Given the description of an element on the screen output the (x, y) to click on. 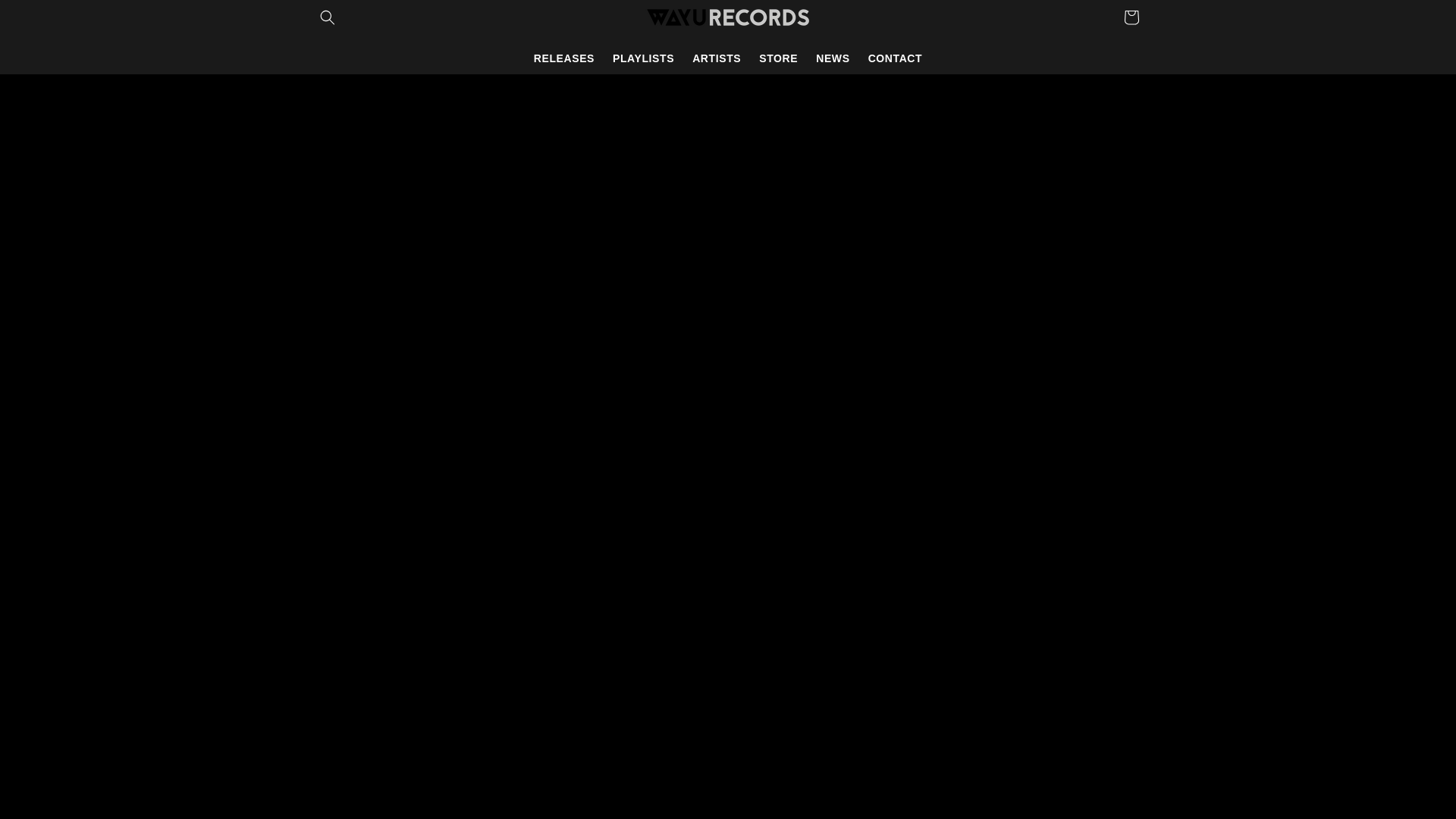
ARTISTS (715, 58)
PLAYLISTS (643, 58)
STORE (777, 58)
Cart (1131, 16)
CONTACT (895, 58)
RELEASES (564, 58)
Skip to content (45, 17)
NEWS (832, 58)
